Given the description of an element on the screen output the (x, y) to click on. 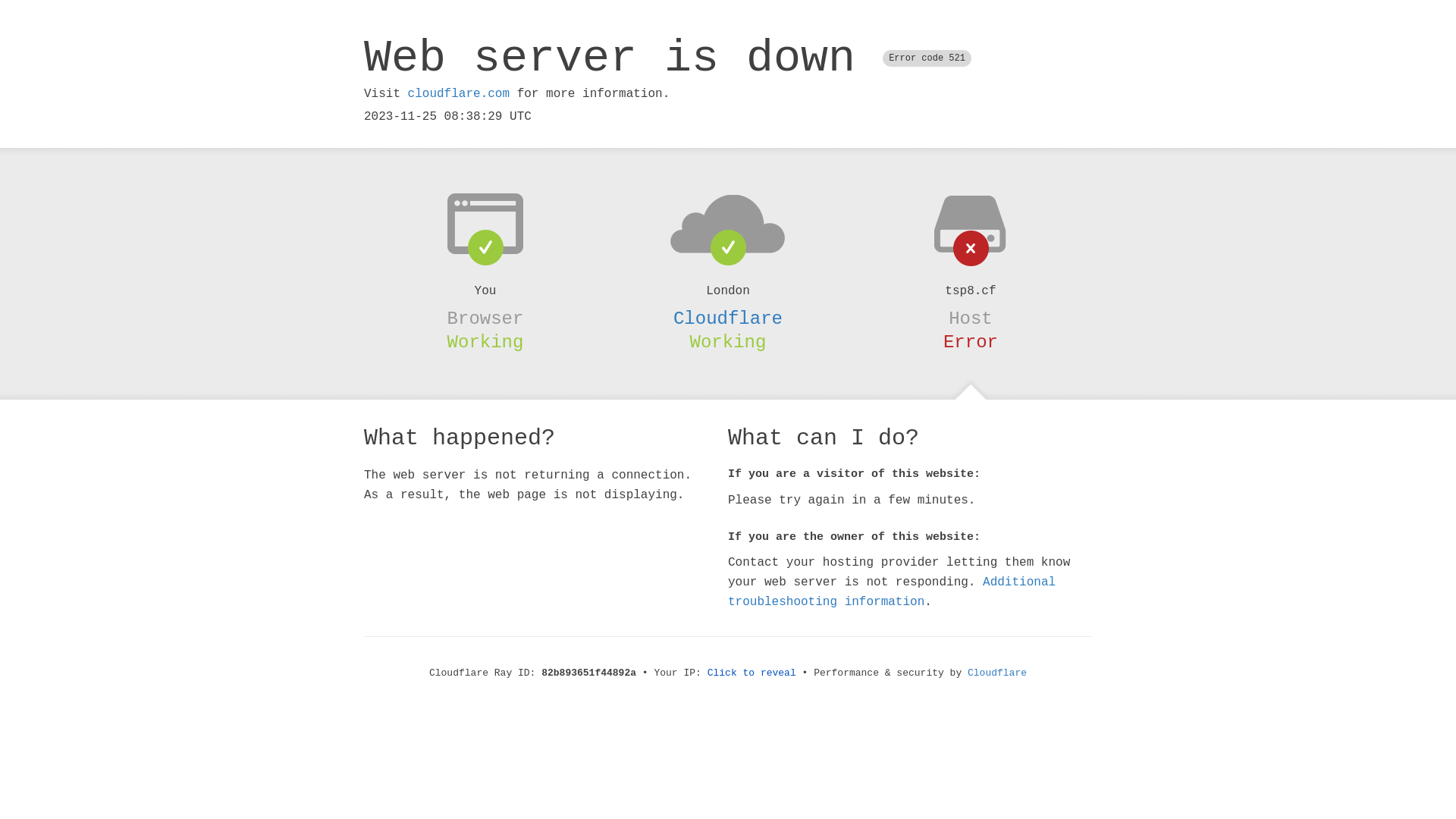
Additional troubleshooting information Element type: text (891, 591)
Cloudflare Element type: text (996, 672)
Click to reveal Element type: text (751, 672)
cloudflare.com Element type: text (458, 93)
Cloudflare Element type: text (727, 318)
